Given the description of an element on the screen output the (x, y) to click on. 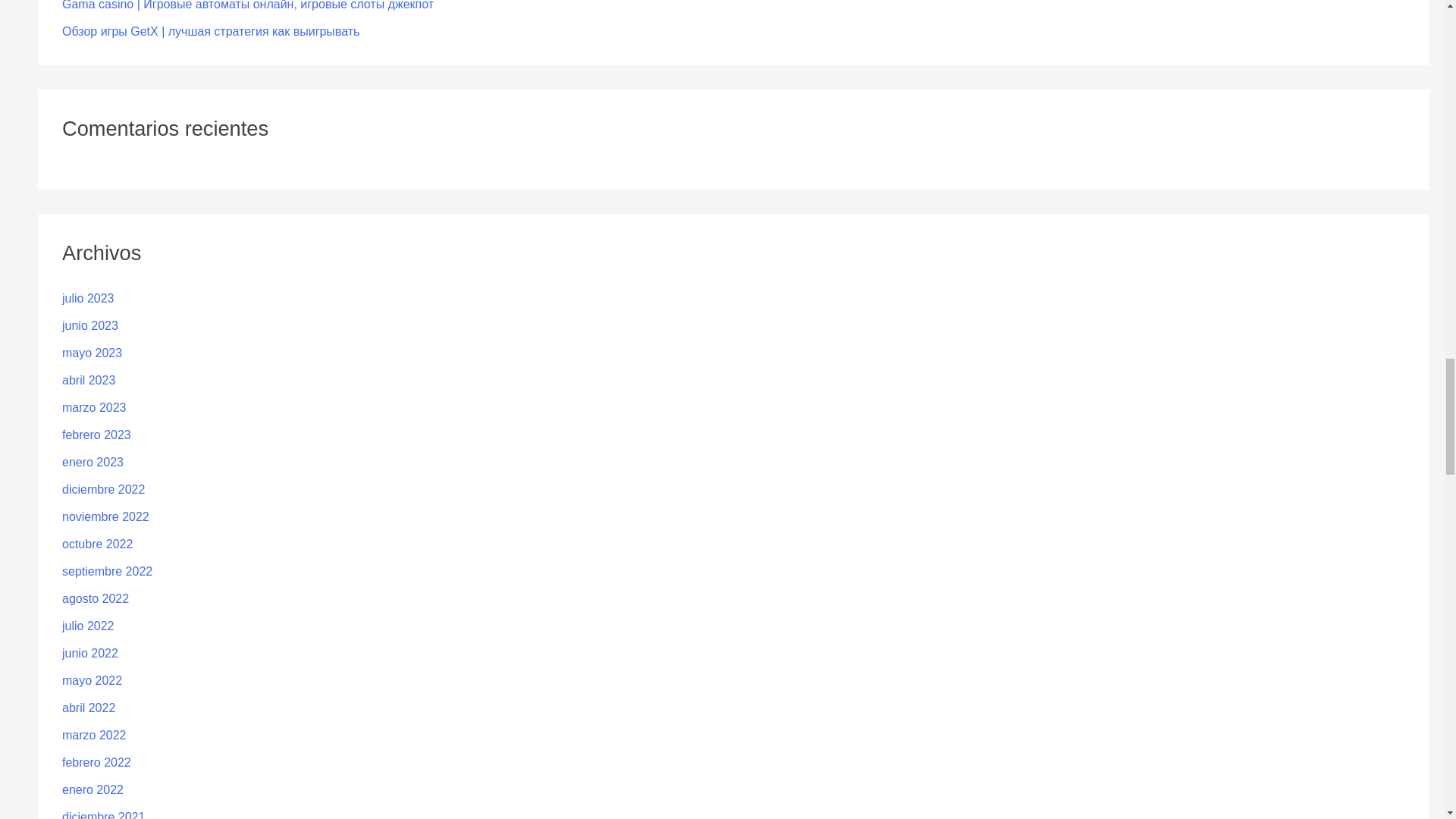
enero 2023 (92, 461)
abril 2023 (88, 379)
mayo 2023 (92, 352)
septiembre 2022 (107, 571)
junio 2023 (89, 325)
diciembre 2022 (103, 489)
febrero 2023 (96, 434)
marzo 2023 (94, 407)
octubre 2022 (97, 543)
noviembre 2022 (105, 516)
